Given the description of an element on the screen output the (x, y) to click on. 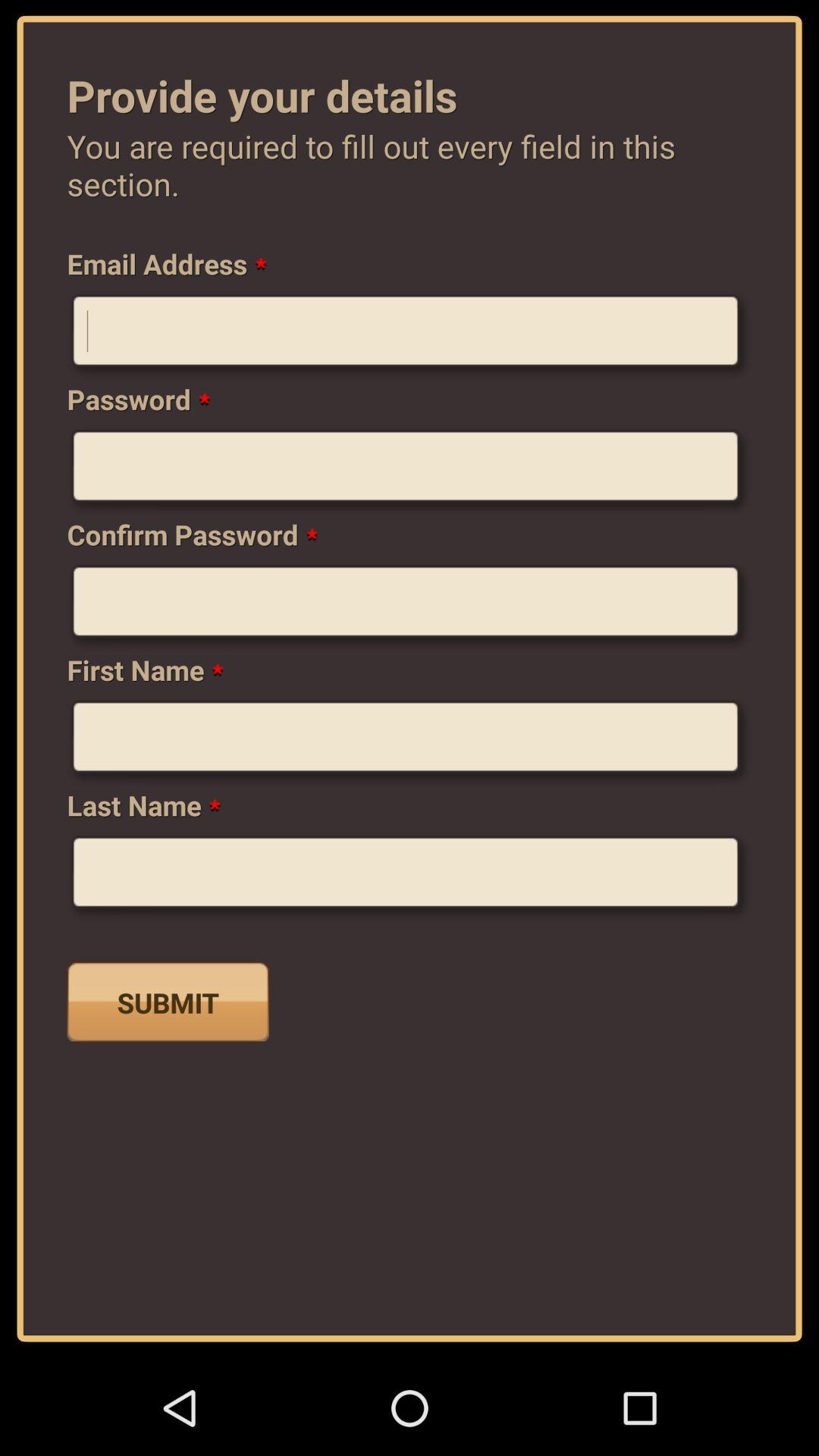
enter email address (409, 336)
